Given the description of an element on the screen output the (x, y) to click on. 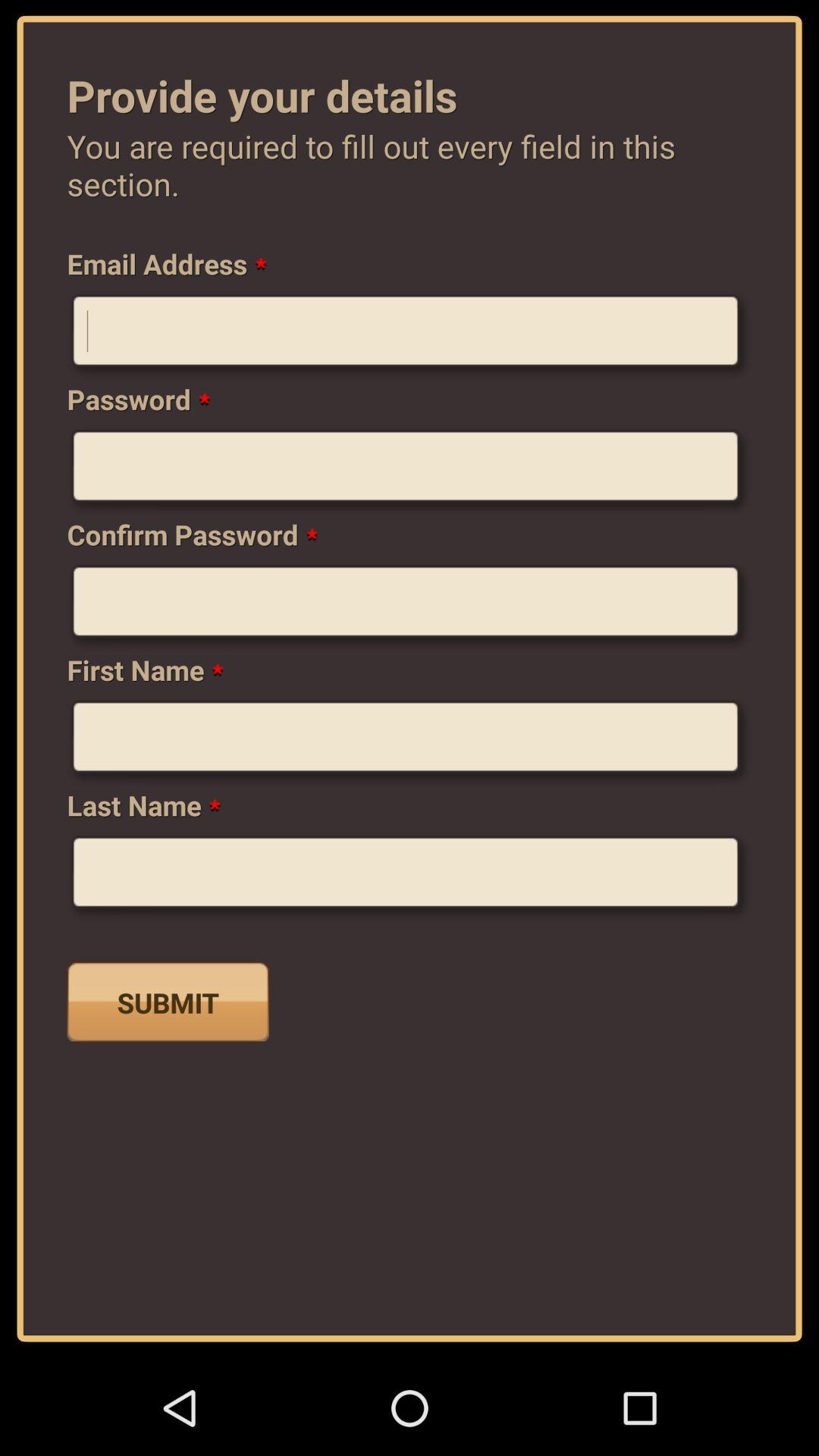
enter email address (409, 336)
